Given the description of an element on the screen output the (x, y) to click on. 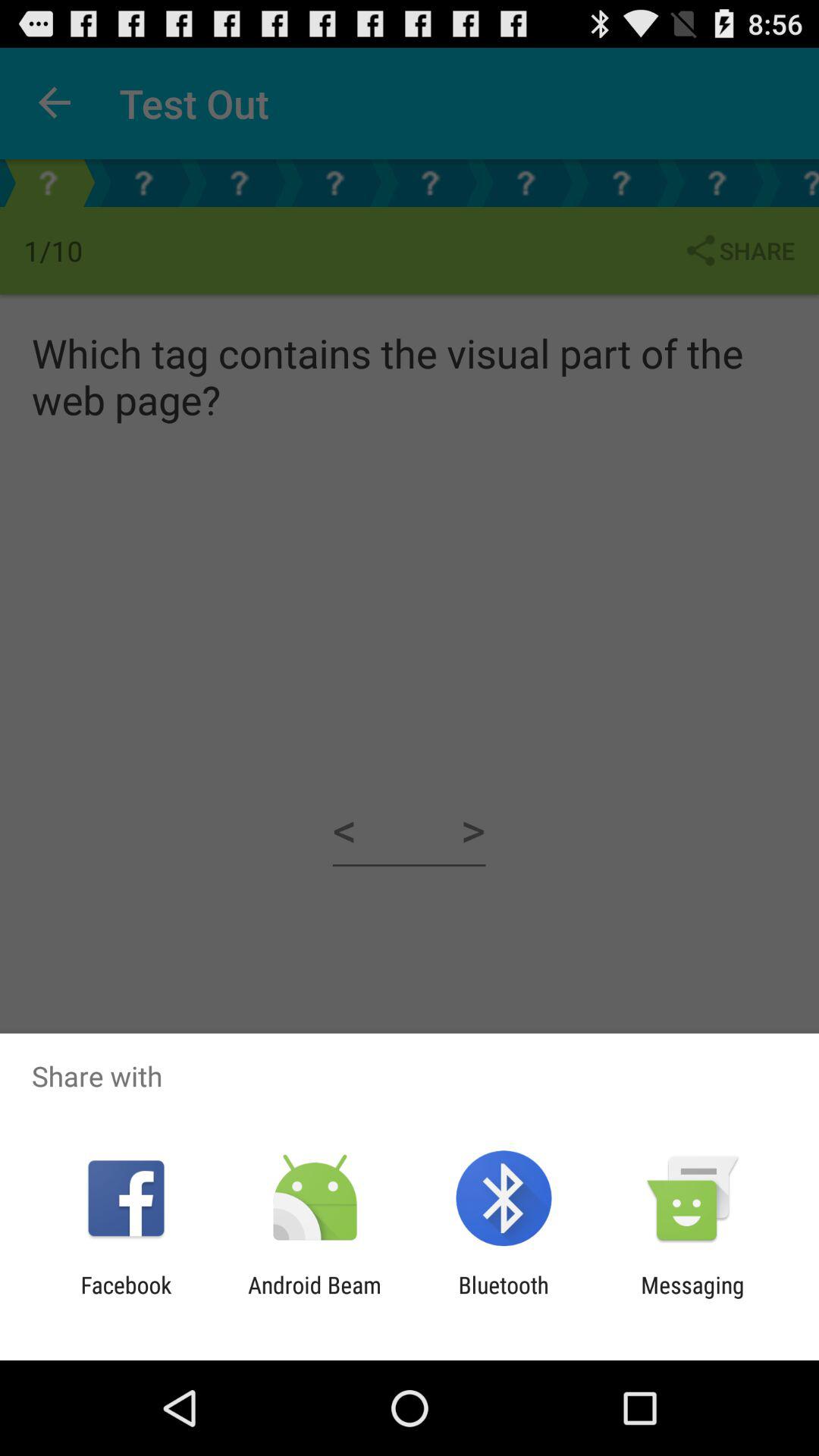
tap the item to the left of the messaging item (503, 1298)
